Given the description of an element on the screen output the (x, y) to click on. 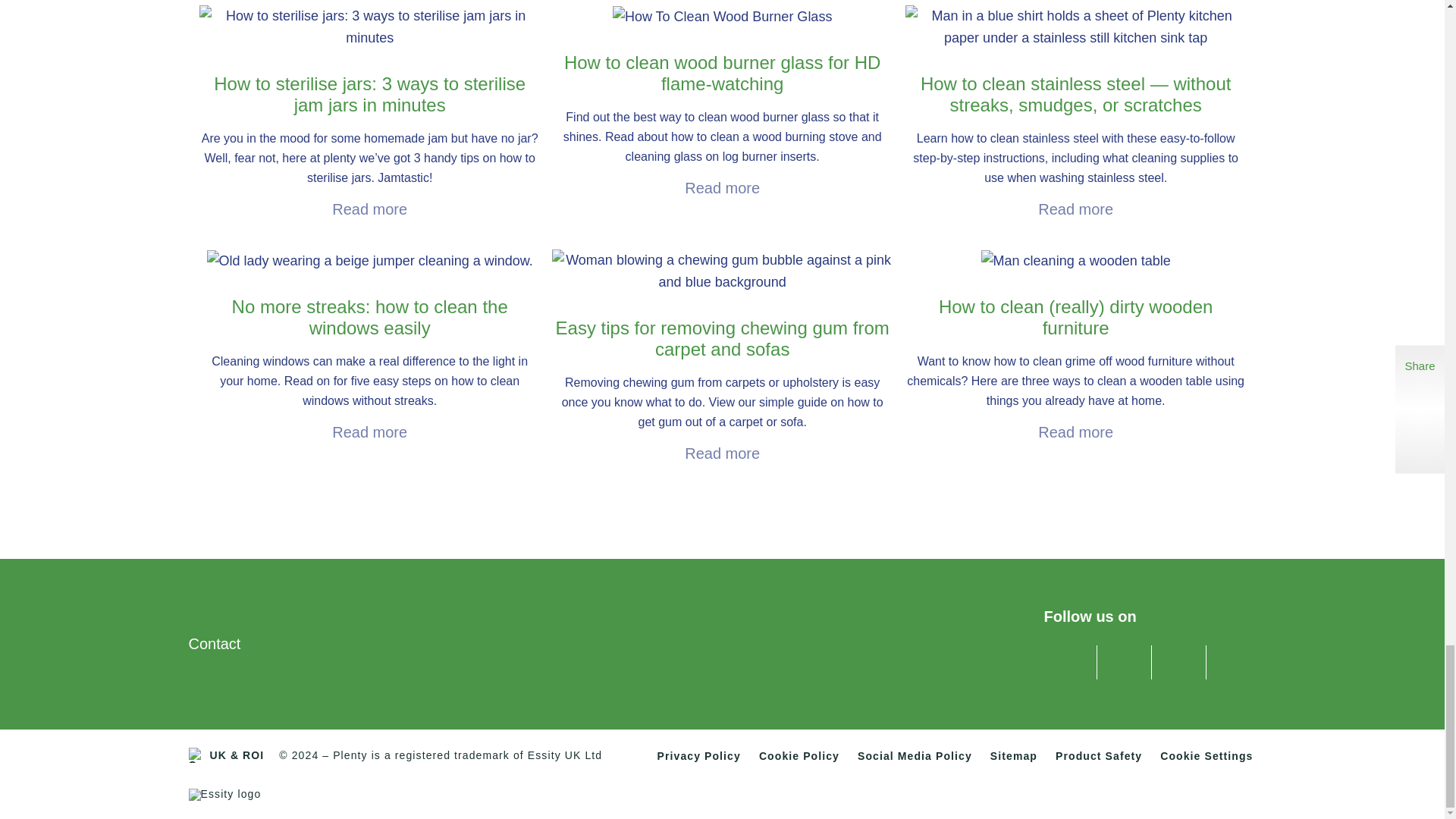
How to clean wood burner glass for HD flame-watching (721, 101)
facebook (1067, 659)
Read more (369, 432)
No more streaks: how to clean the windows easily (368, 346)
youtube (1177, 659)
Contact (213, 643)
Read more (369, 209)
instagram (1231, 659)
